Given the description of an element on the screen output the (x, y) to click on. 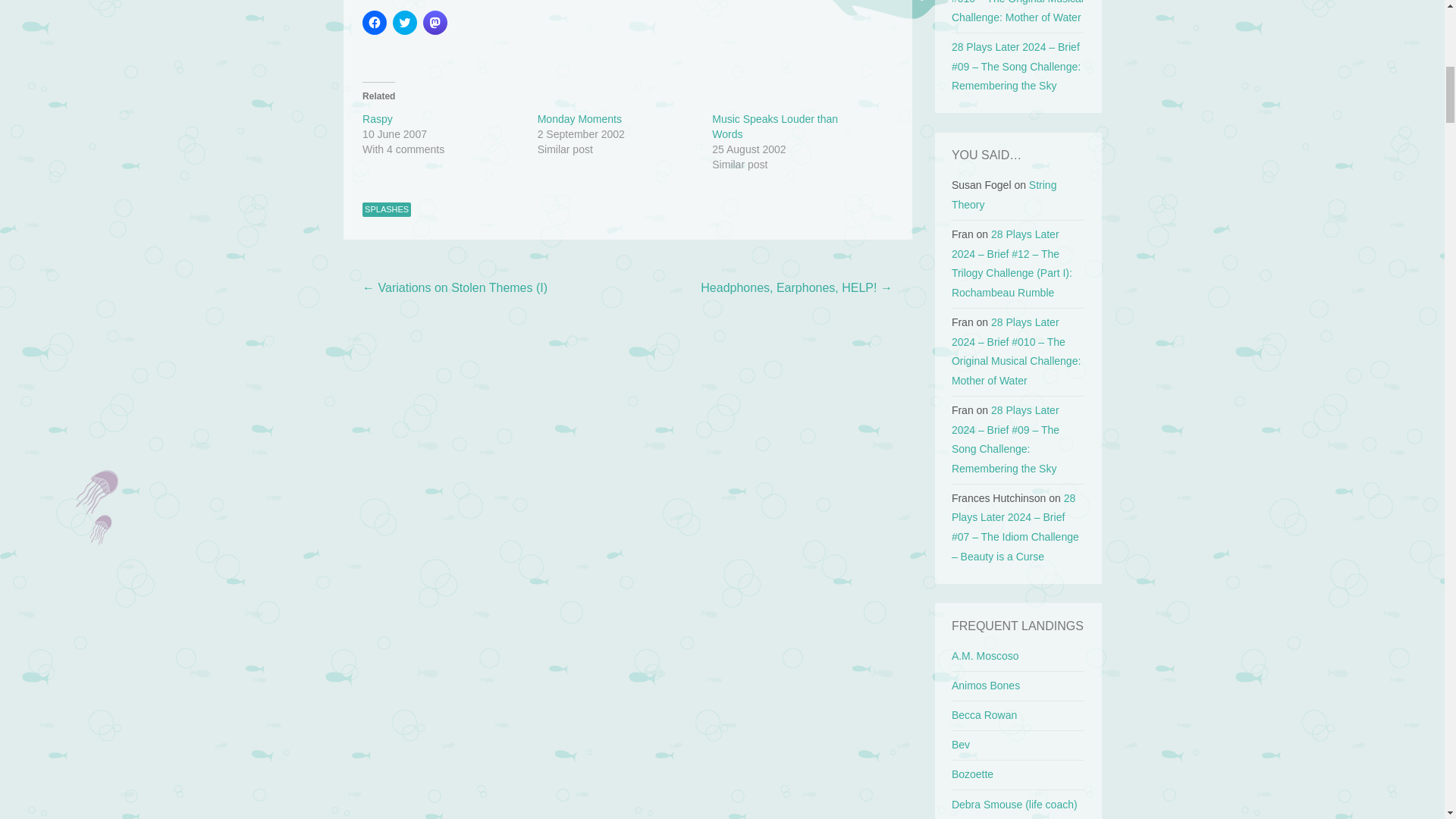
Music Speaks Louder than Words (774, 126)
Monday Moments (579, 119)
Bev (960, 744)
Click to share on Twitter (404, 22)
Click to share on Facebook (374, 22)
SPLASHES (386, 209)
Raspy (377, 119)
Animos Bones (986, 685)
Monday Moments (579, 119)
Raspy (377, 119)
